Given the description of an element on the screen output the (x, y) to click on. 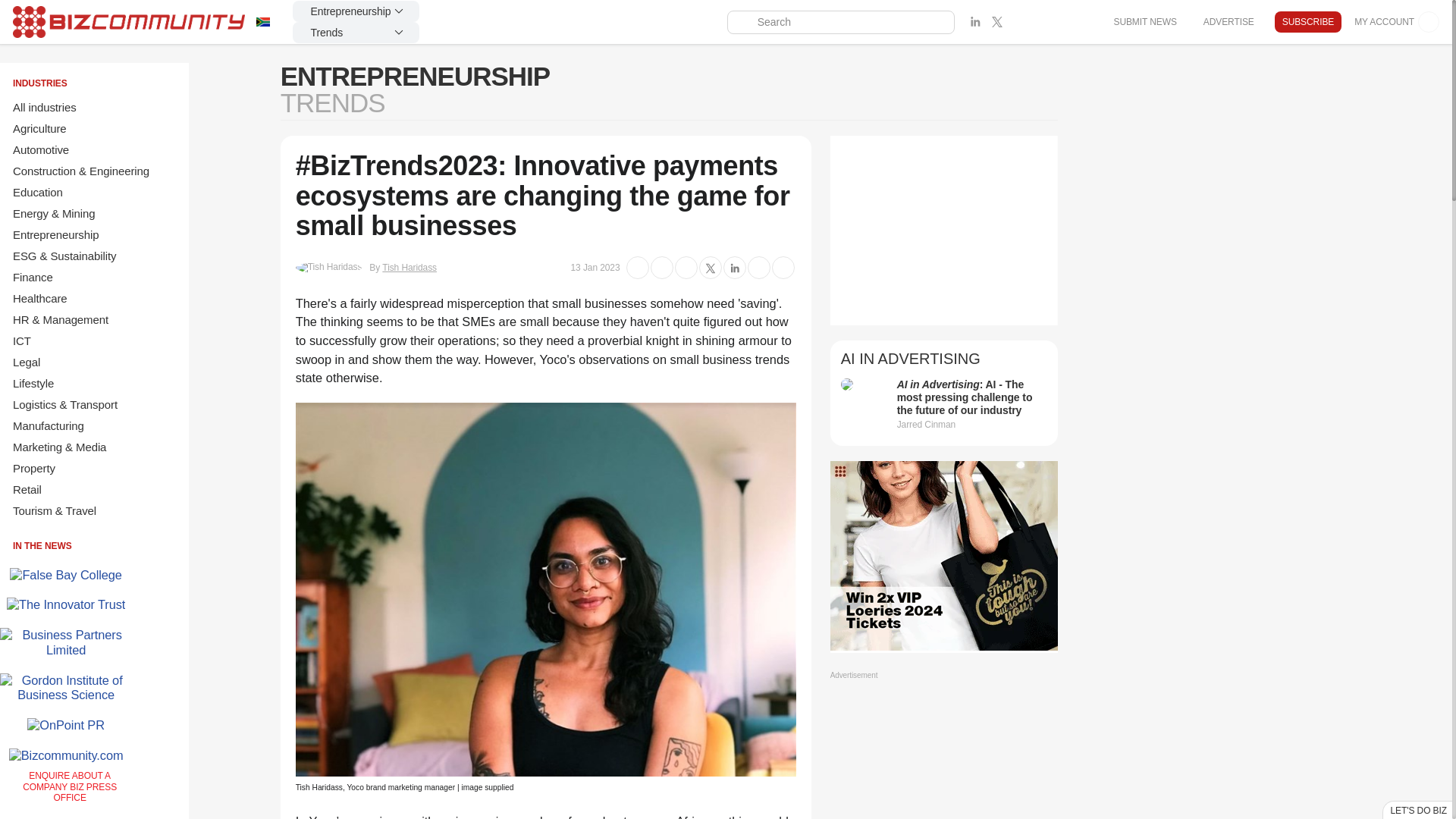
MY ACCOUNT (1396, 21)
Bizcommunity instagram (1040, 22)
SUBMIT NEWS (1144, 21)
Bizcommunity facebook (1084, 22)
ADVERTISE (1228, 21)
Bizcommunity youtube (1062, 22)
SUBSCRIBE (1307, 21)
Bizcommunity linked (975, 22)
Entrepreneurship (356, 11)
Bizcommunity facebook (1018, 22)
